Given the description of an element on the screen output the (x, y) to click on. 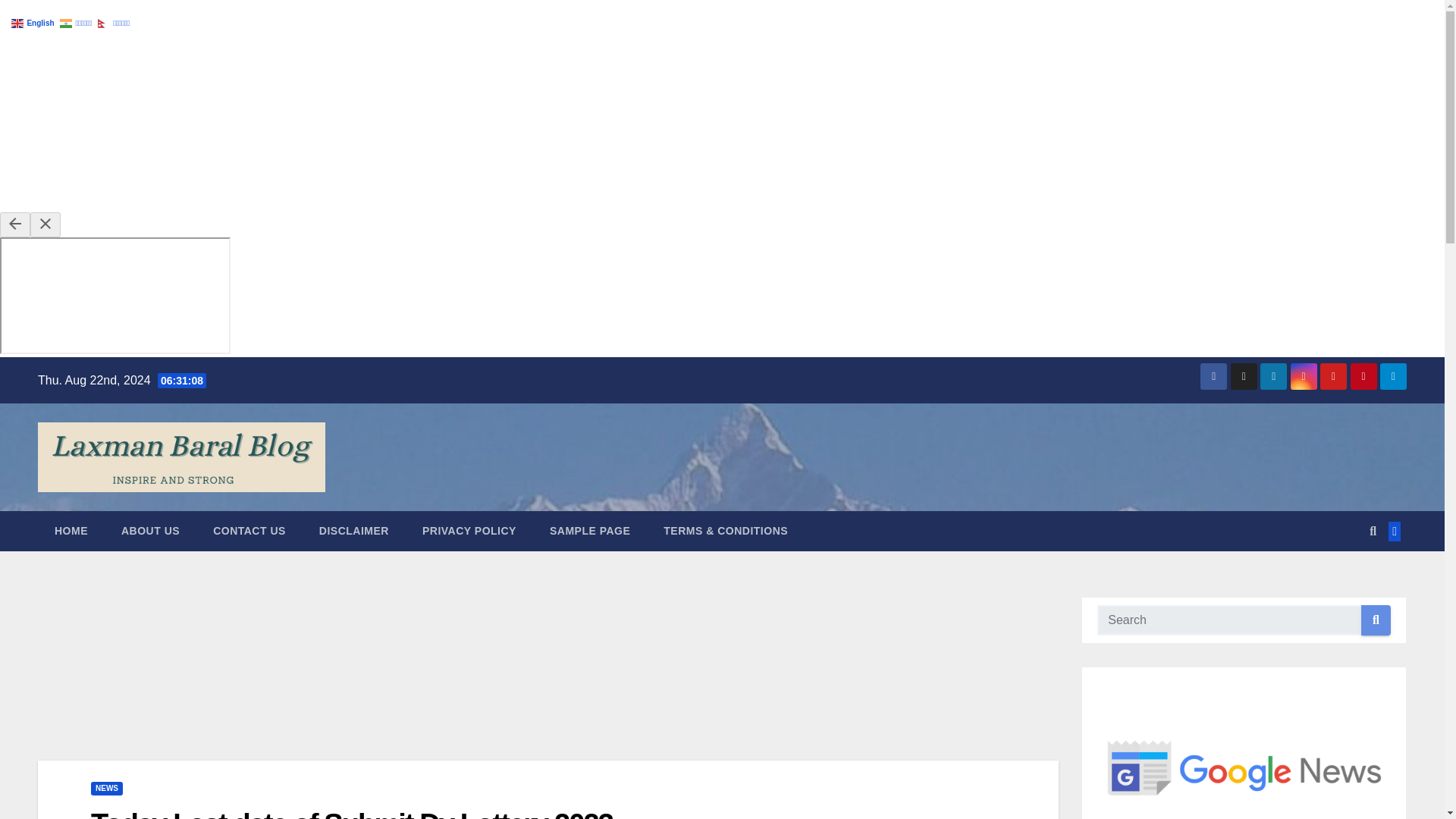
Today Last date of Submit Dv Lottery 2023 (351, 813)
CONTACT US (249, 530)
ABOUT US (150, 530)
Permalink to: Today Last date of Submit Dv Lottery 2023 (351, 813)
Home (70, 530)
HOME (70, 530)
PRIVACY POLICY (469, 530)
NEWS (106, 788)
SAMPLE PAGE (589, 530)
DISCLAIMER (354, 530)
